Given the description of an element on the screen output the (x, y) to click on. 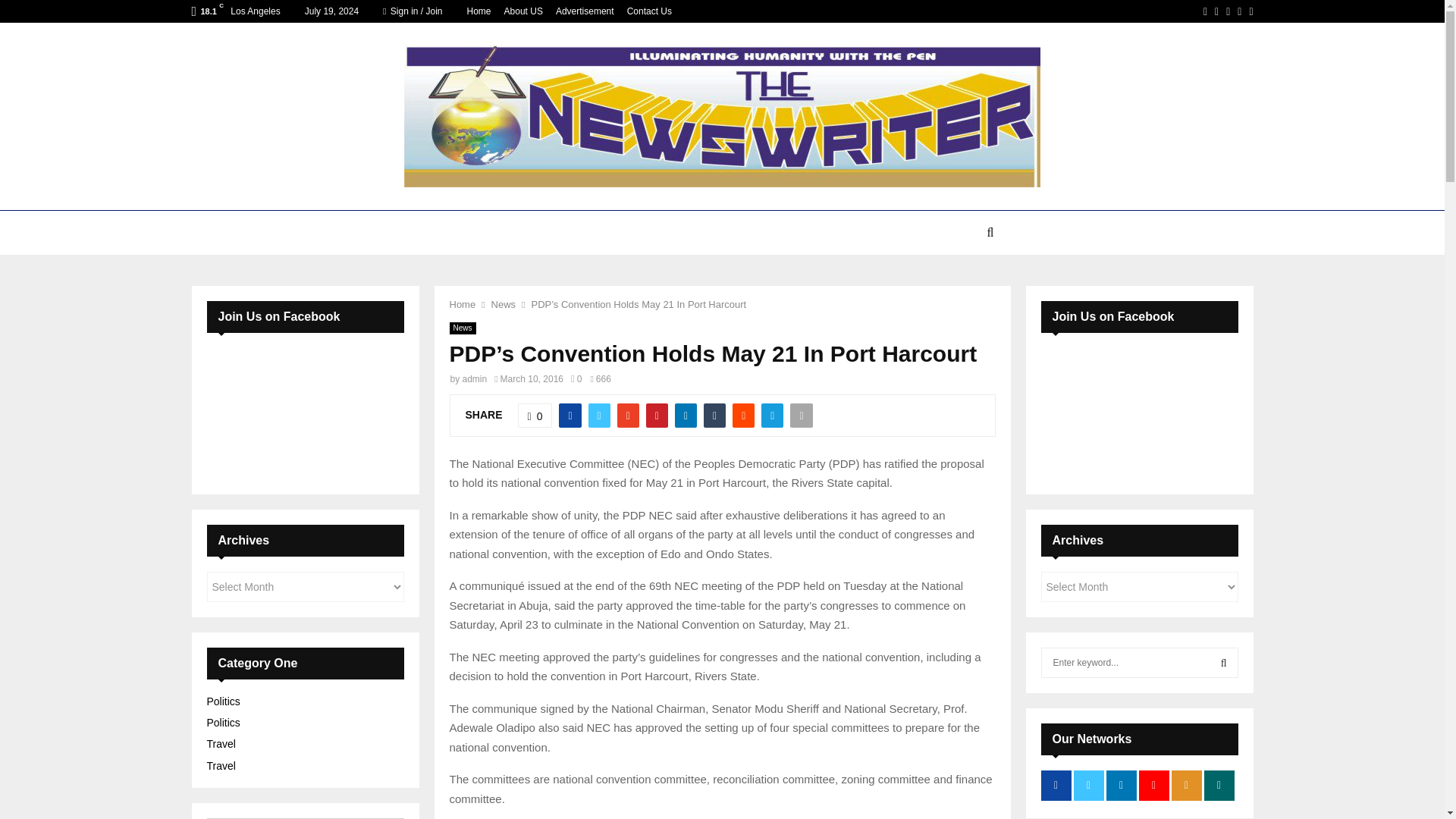
INTERVIEWS (775, 232)
Advertisement (585, 11)
0 (535, 415)
Contact Us (649, 11)
0 (575, 378)
BOOKS REVIEWS (674, 232)
Home (479, 11)
admin (475, 378)
COLUMN (583, 232)
Home (462, 304)
About US (523, 11)
Like (535, 415)
SOUL MATE (862, 232)
News (504, 304)
News (462, 328)
